Given the description of an element on the screen output the (x, y) to click on. 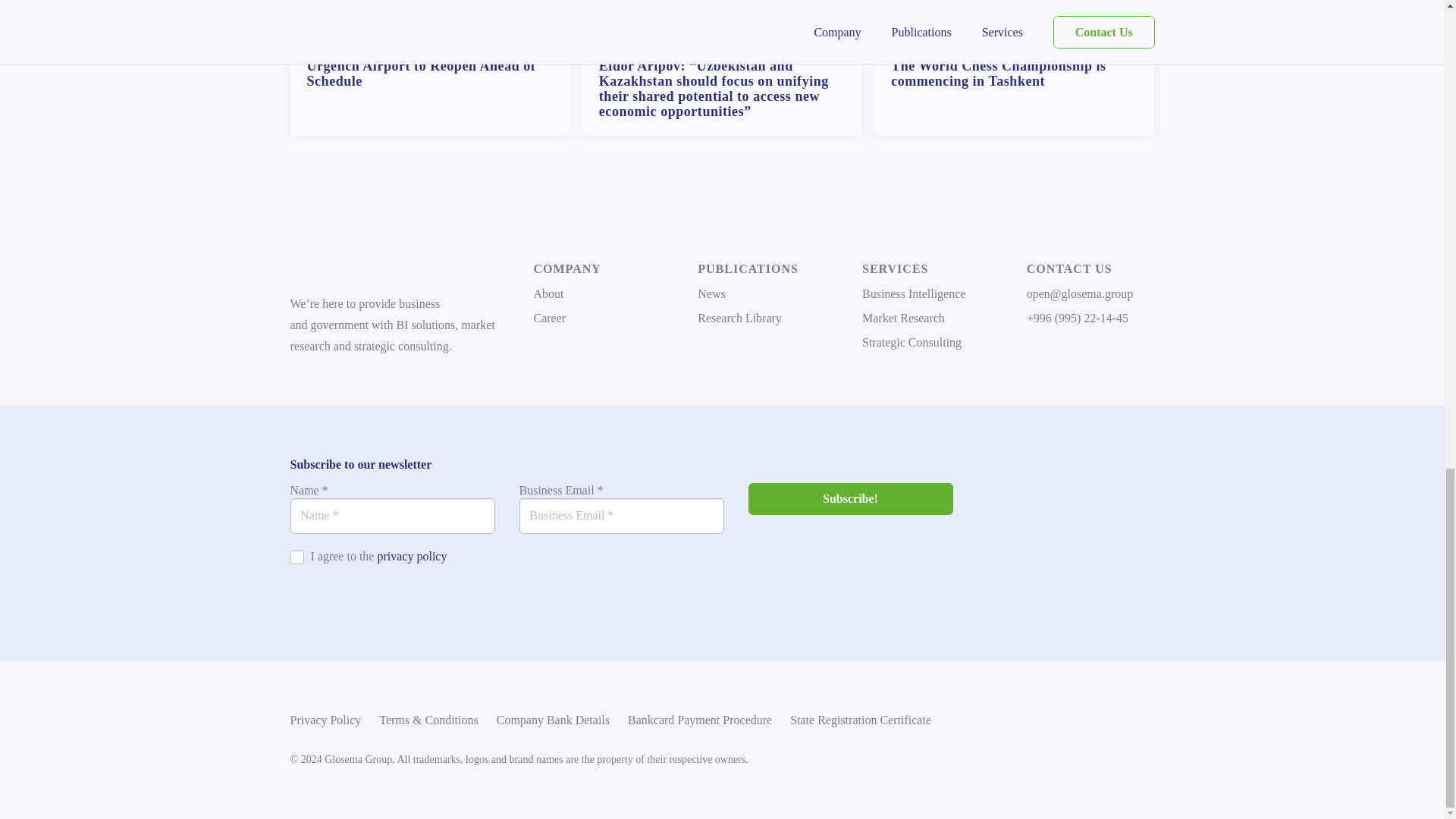
The World Chess Championship is commencing in Tashkent (998, 73)
UZA News (1090, 39)
UZA News (505, 39)
1 (295, 557)
Urgench Airport to Reopen Ahead of Schedule (420, 73)
Business Email (620, 515)
UZA News (798, 39)
Name (392, 515)
